Given the description of an element on the screen output the (x, y) to click on. 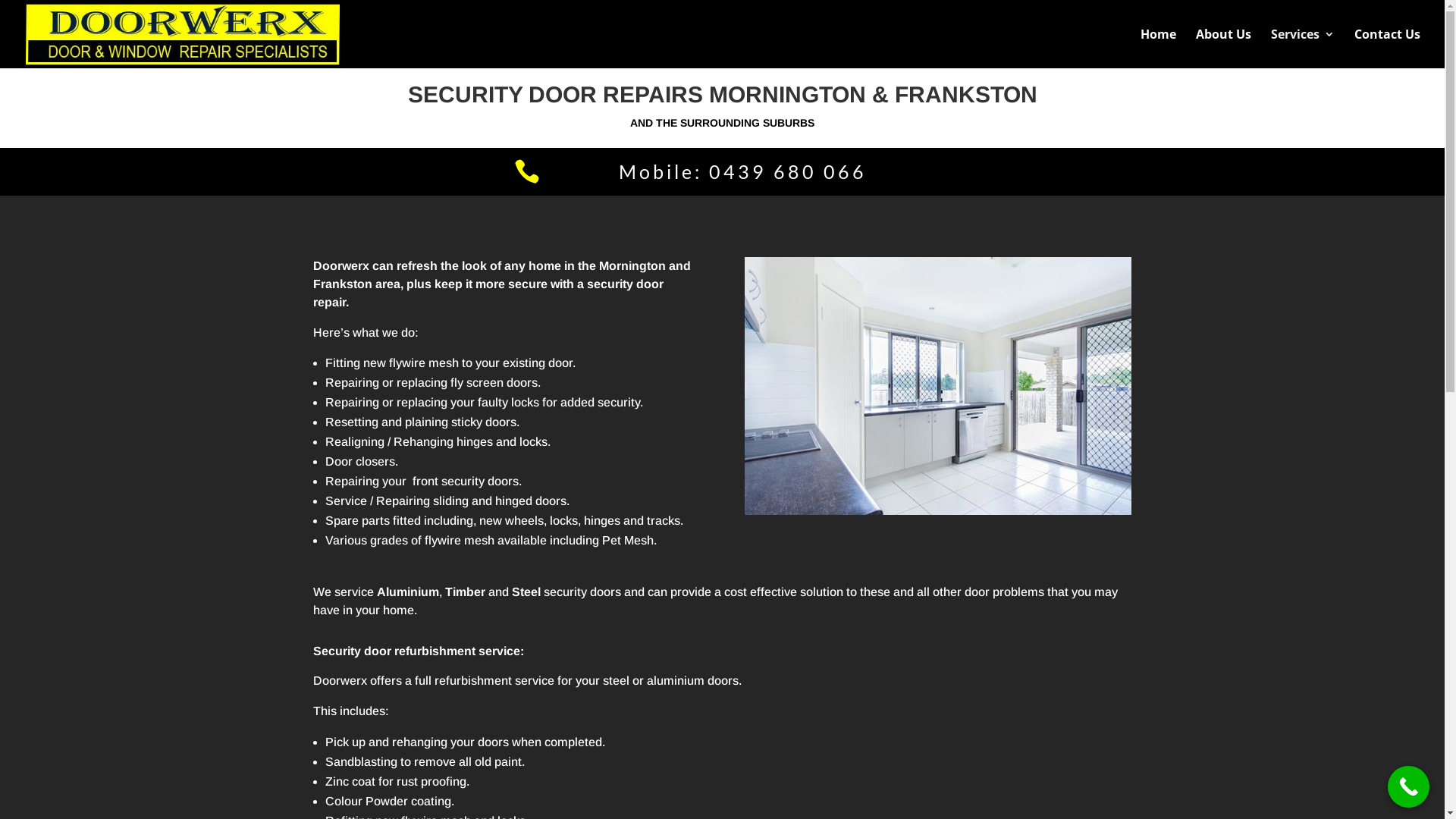
Services Element type: text (1302, 48)
Security door repair  Element type: hover (937, 385)
Contact Us Element type: text (1387, 48)
Home Element type: text (1158, 48)
About Us Element type: text (1223, 48)
Mobile: 0439 680 066 Element type: text (742, 171)
